Given the description of an element on the screen output the (x, y) to click on. 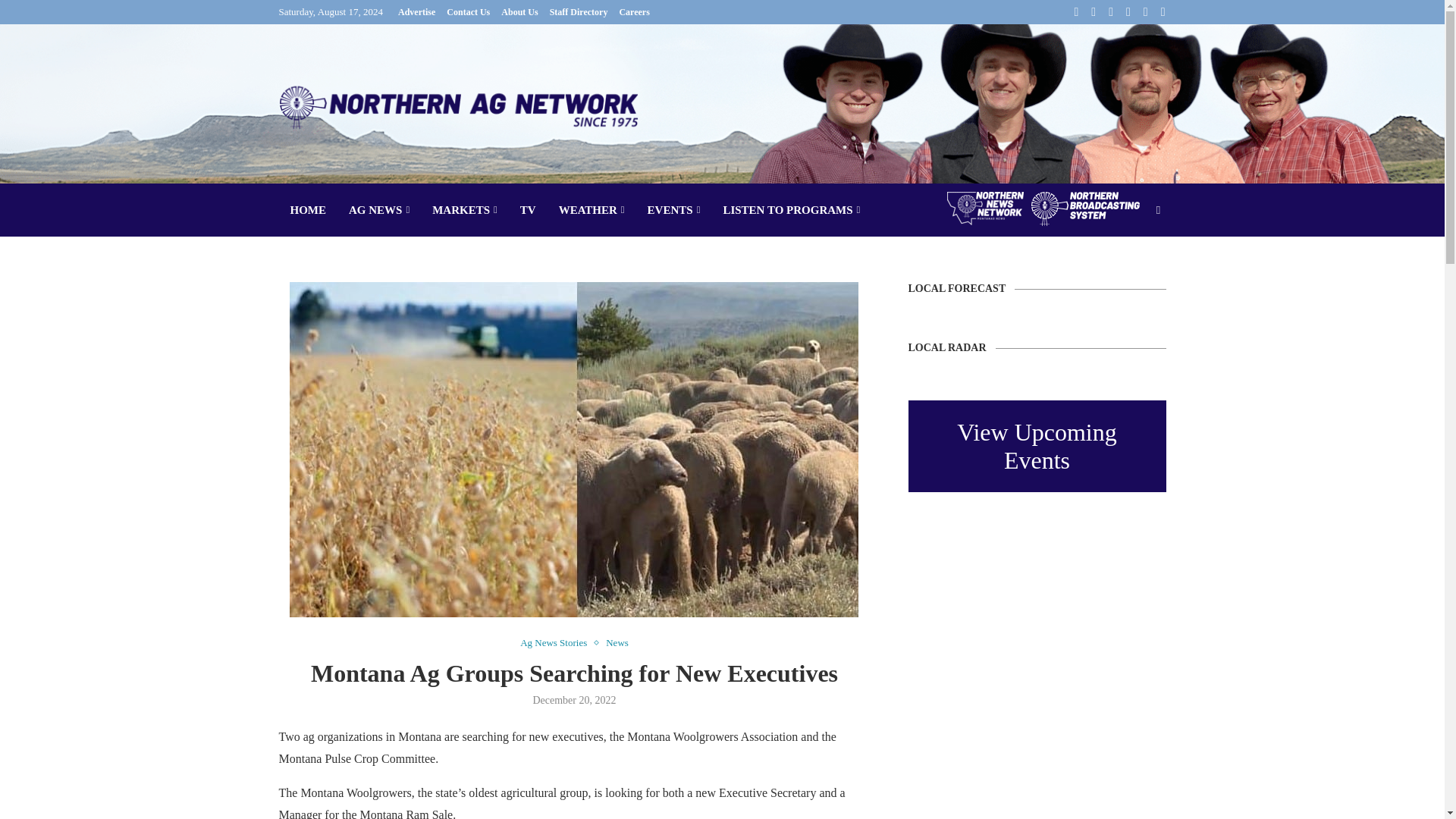
Advertise (416, 12)
Staff Directory (579, 12)
Contact Us (467, 12)
About Us (518, 12)
Careers (633, 12)
